Given the description of an element on the screen output the (x, y) to click on. 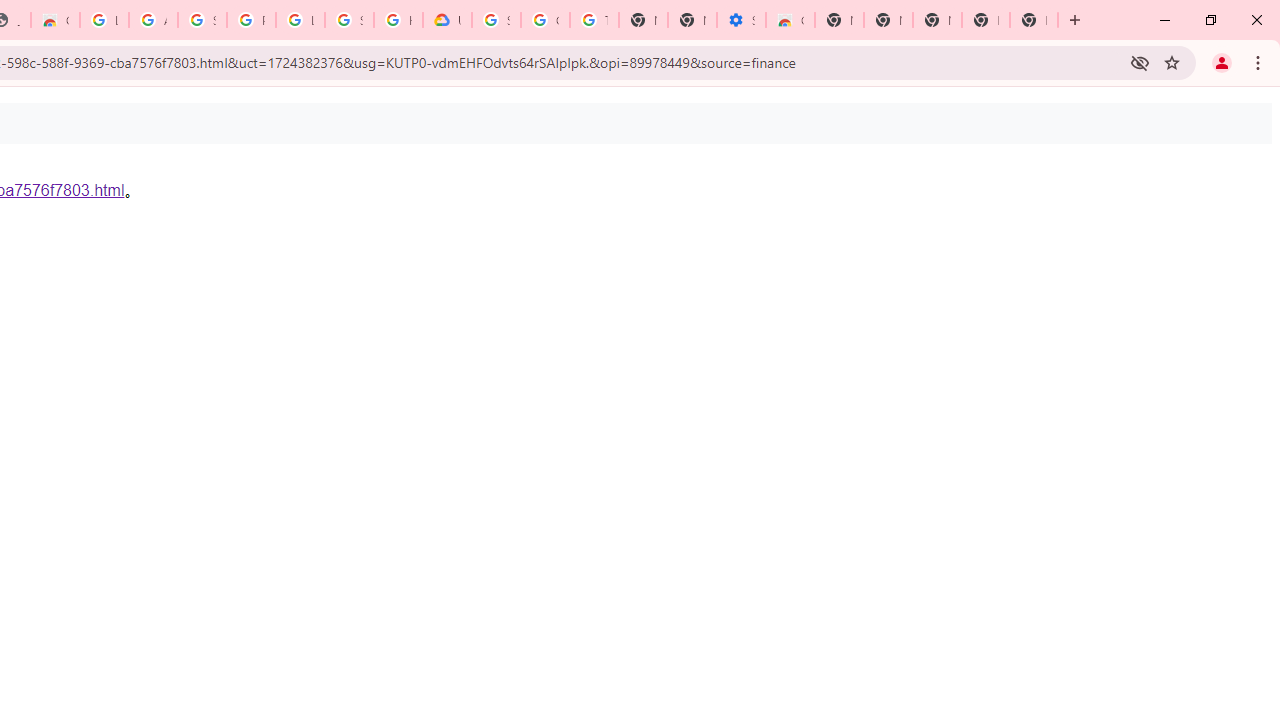
Chrome Web Store - Accessibility extensions (790, 20)
Chrome Web Store - Household (55, 20)
Sign in - Google Accounts (349, 20)
Settings - Accessibility (740, 20)
Turn cookies on or off - Computer - Google Account Help (594, 20)
Google Account Help (545, 20)
Third-party cookies blocked (1139, 62)
New Tab (1033, 20)
New Tab (839, 20)
